Given the description of an element on the screen output the (x, y) to click on. 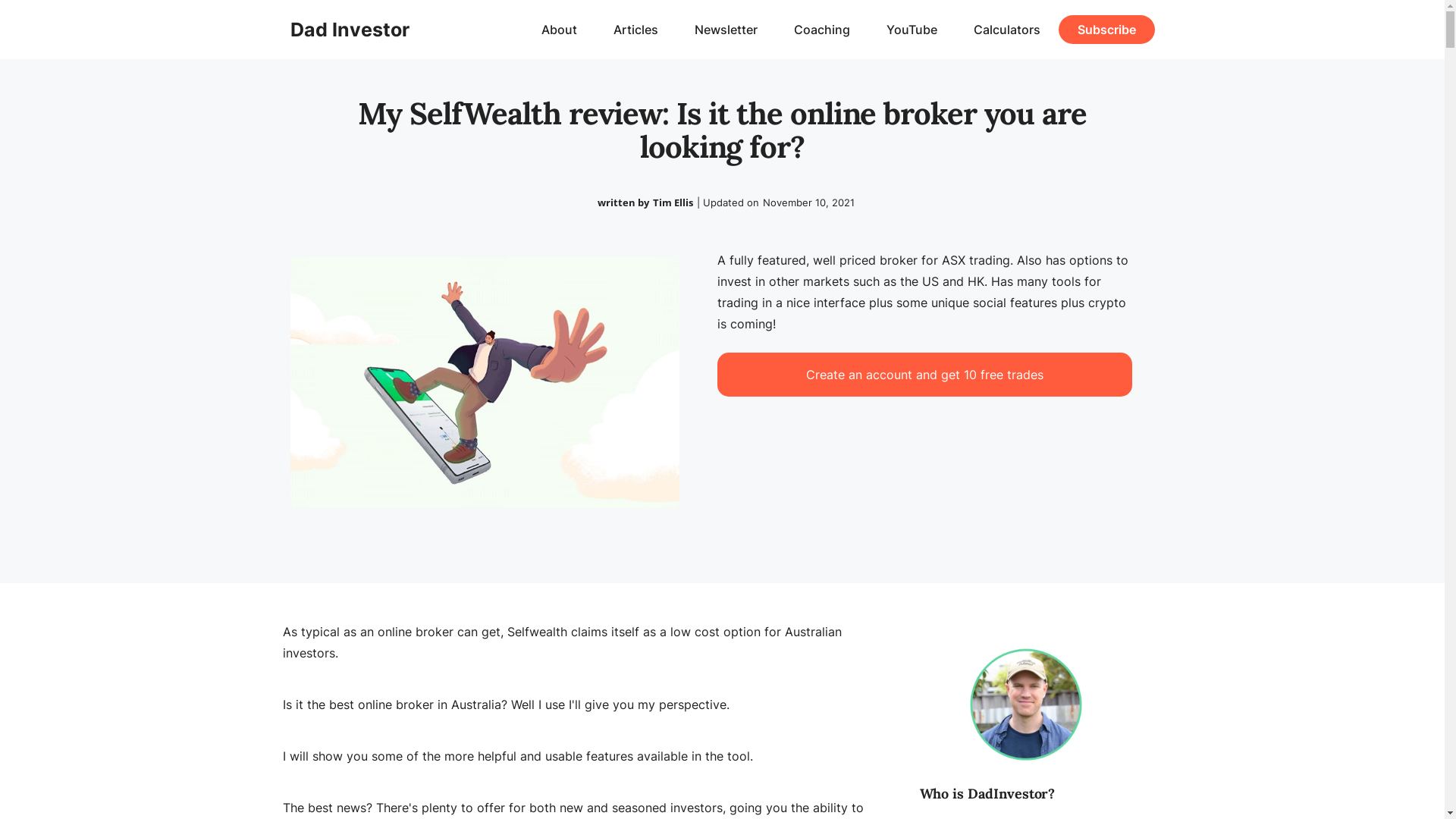
DadInvestor Face Element type: hover (1025, 704)
Articles Element type: text (634, 29)
About Element type: text (559, 29)
Subscribe Element type: text (1106, 29)
Coaching Element type: text (821, 29)
Newsletter Element type: text (725, 29)
Dad Investor Element type: text (348, 29)
Calculators Element type: text (1006, 29)
Tim Ellis Element type: text (672, 202)
Create an account and get 10 free trades Element type: text (924, 374)
YouTube Element type: text (910, 29)
